Given the description of an element on the screen output the (x, y) to click on. 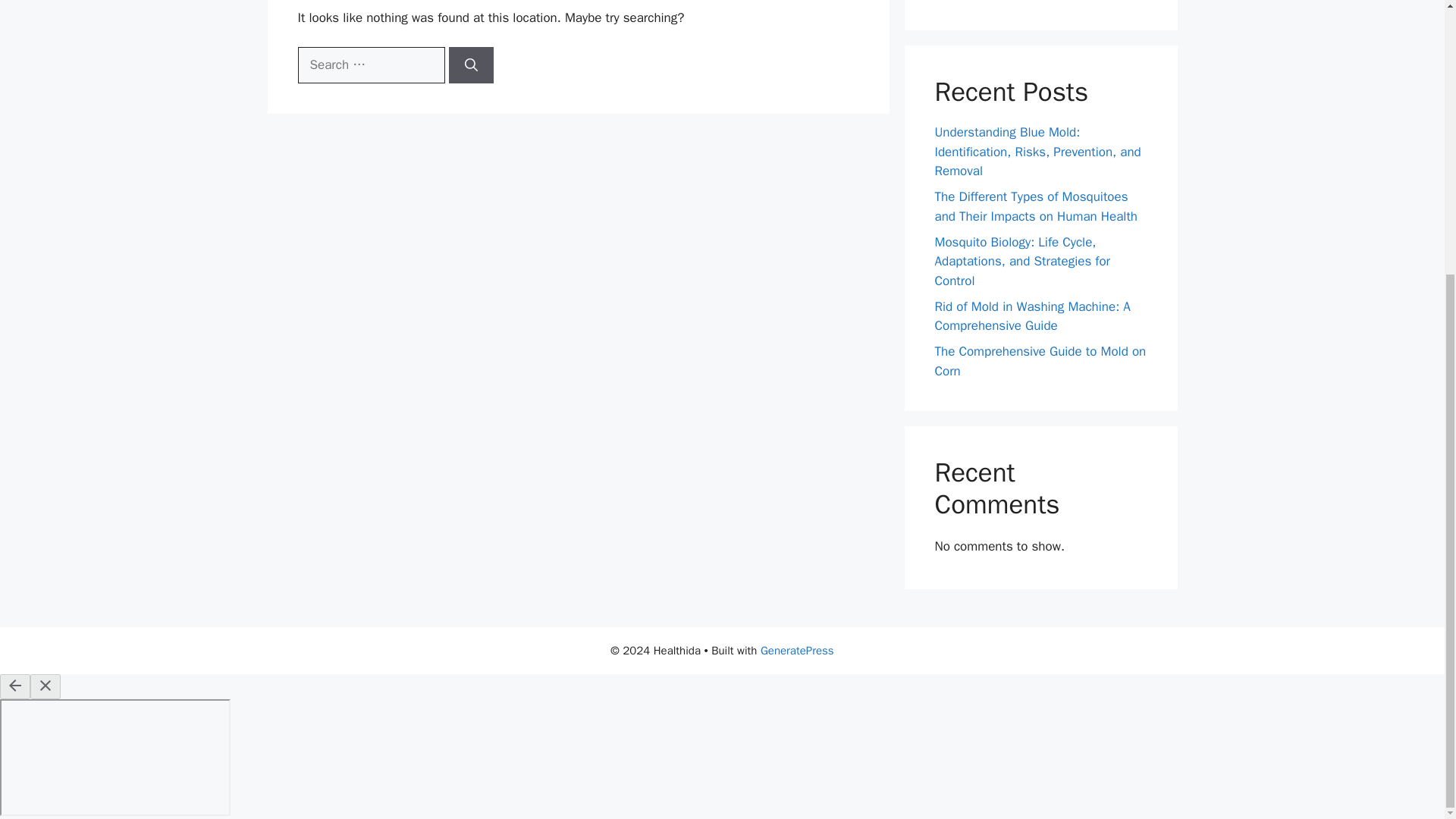
GeneratePress (797, 650)
Search (1111, 0)
Search for: (370, 64)
The Comprehensive Guide to Mold on Corn (1039, 361)
Rid of Mold in Washing Machine: A Comprehensive Guide (1031, 315)
